Given the description of an element on the screen output the (x, y) to click on. 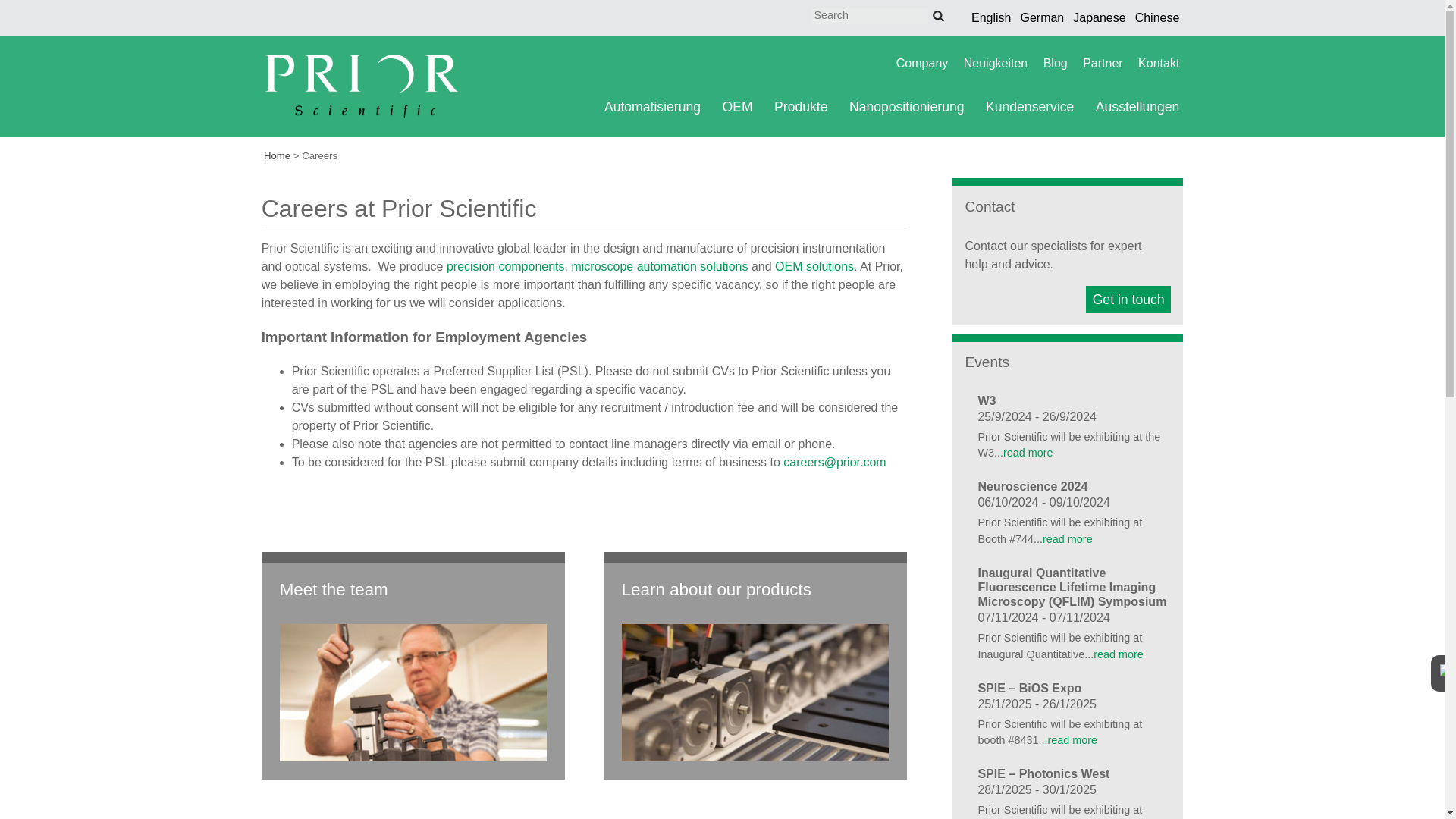
English (990, 17)
Chinese (1157, 17)
Japanese (1099, 17)
German (1042, 17)
